Given the description of an element on the screen output the (x, y) to click on. 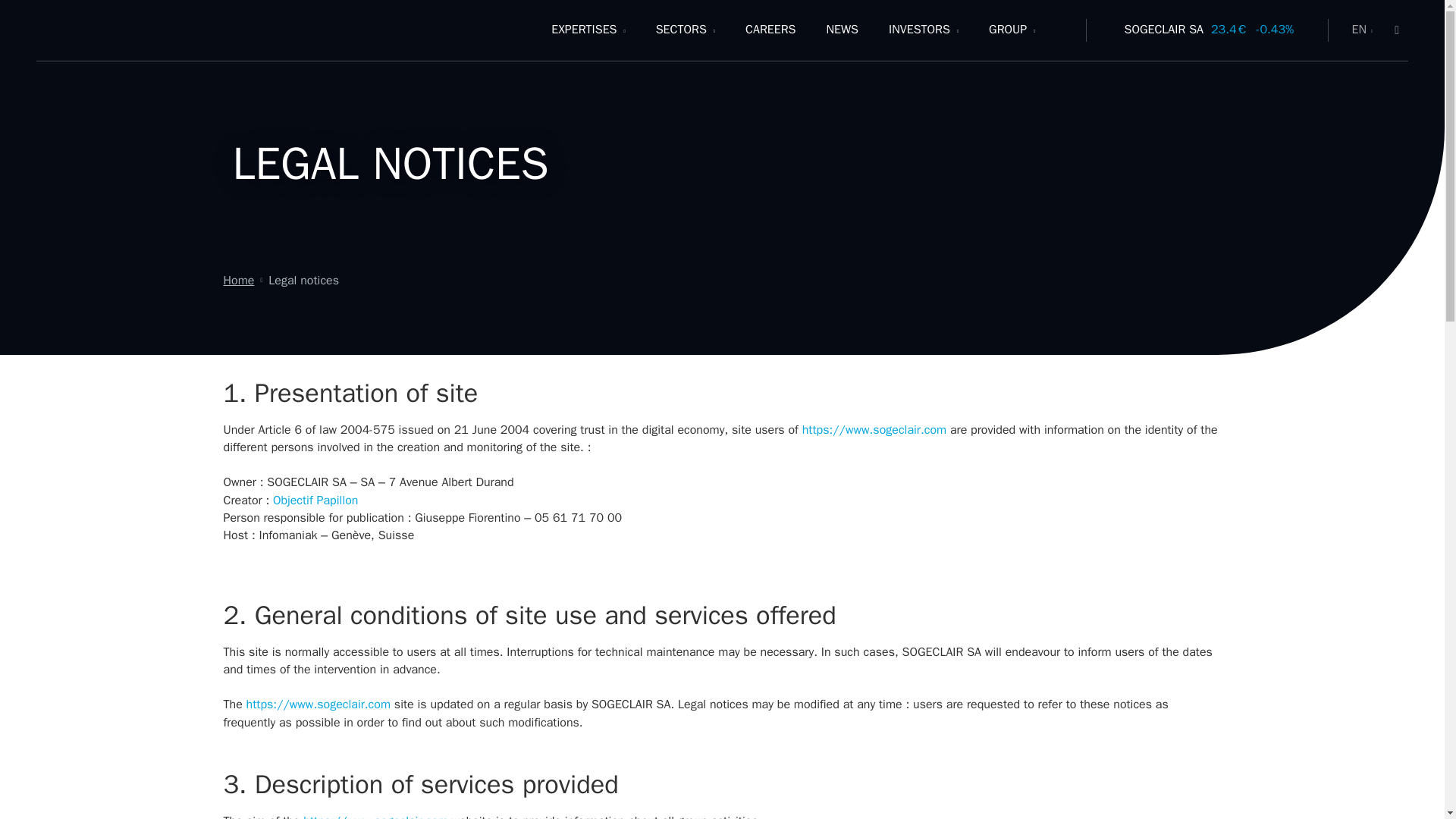
CAREERS (770, 30)
